Given the description of an element on the screen output the (x, y) to click on. 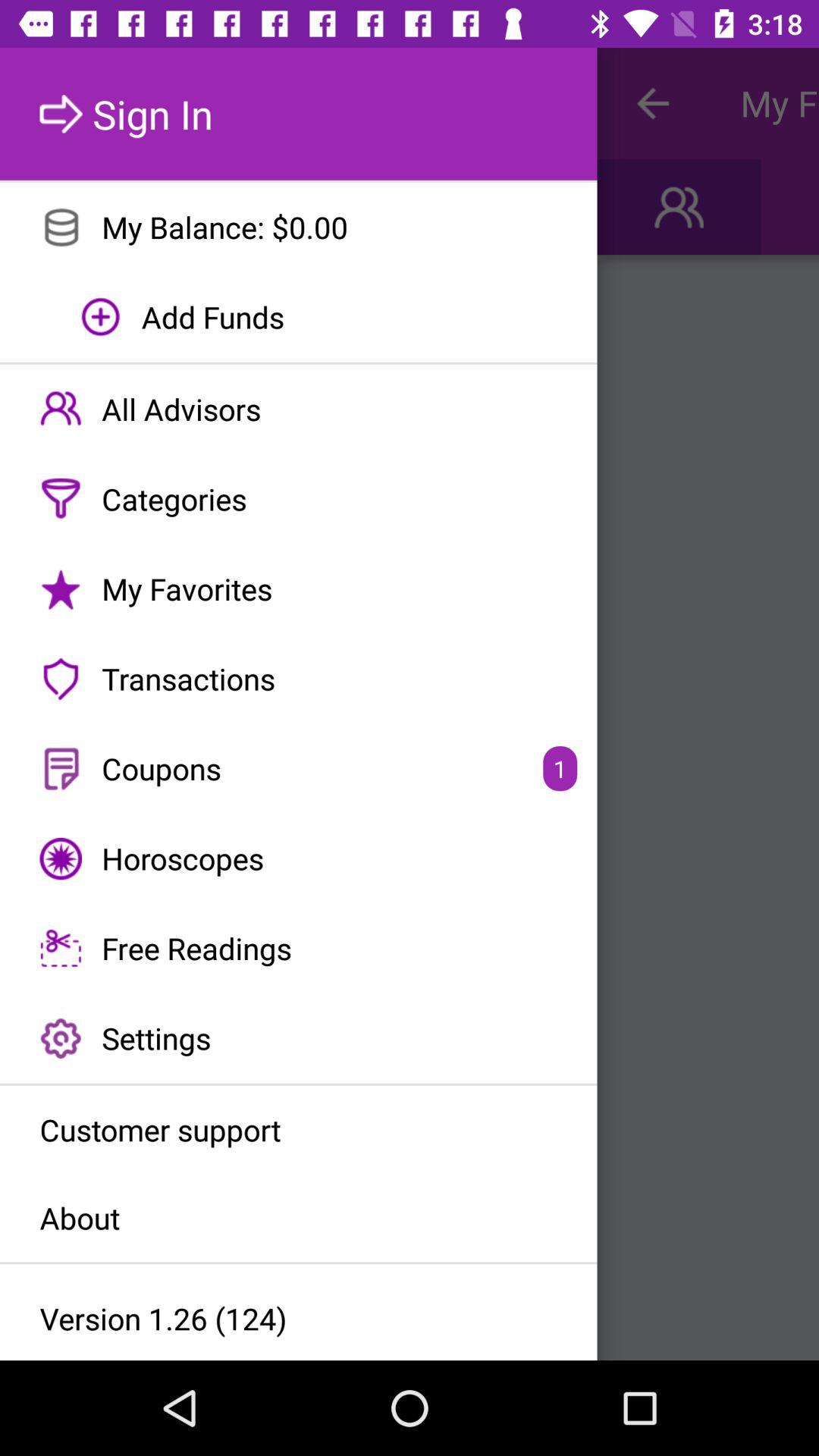
click icon to the right of sign in item (652, 103)
